Given the description of an element on the screen output the (x, y) to click on. 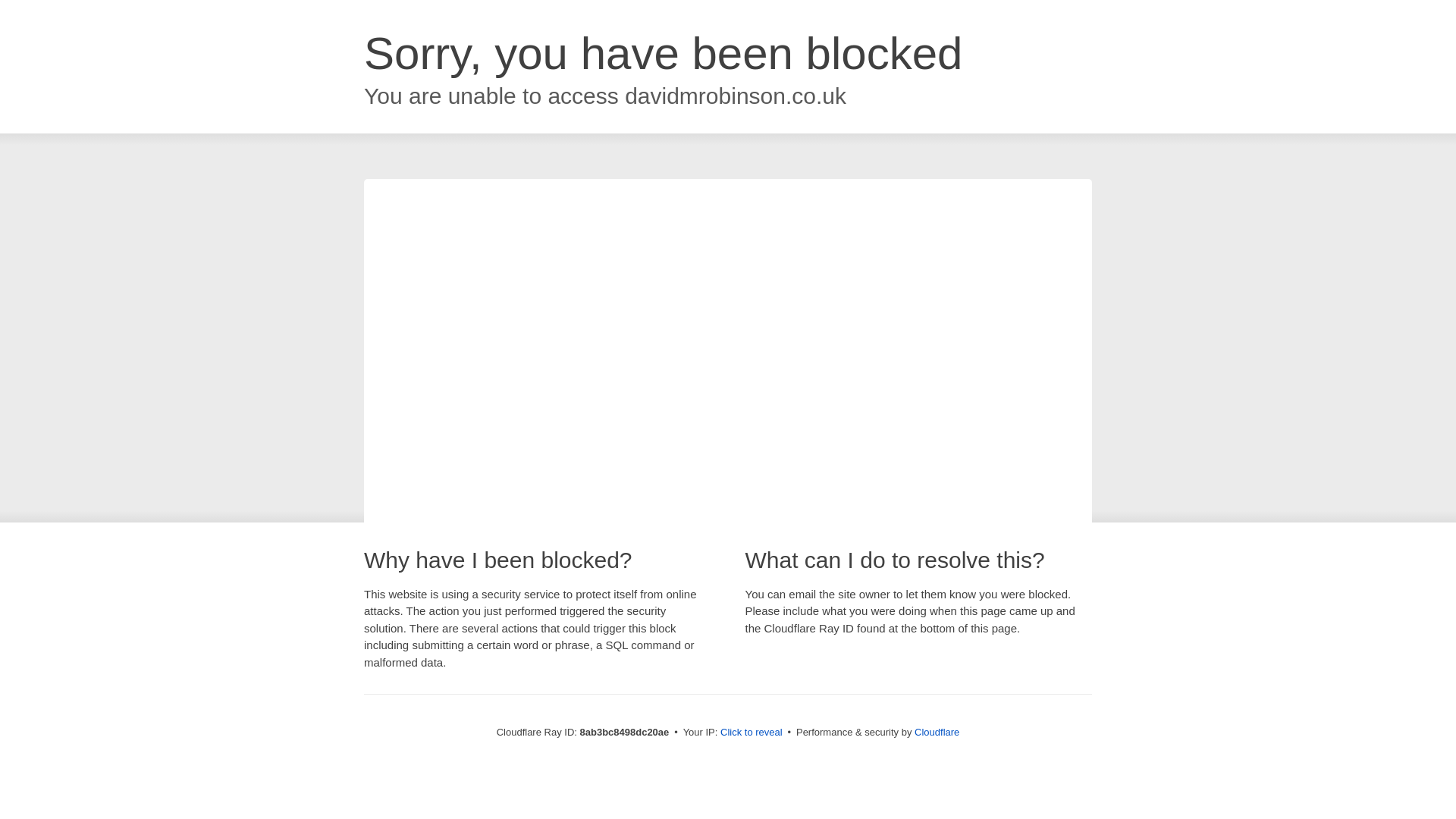
Cloudflare (936, 731)
Click to reveal (751, 732)
